Given the description of an element on the screen output the (x, y) to click on. 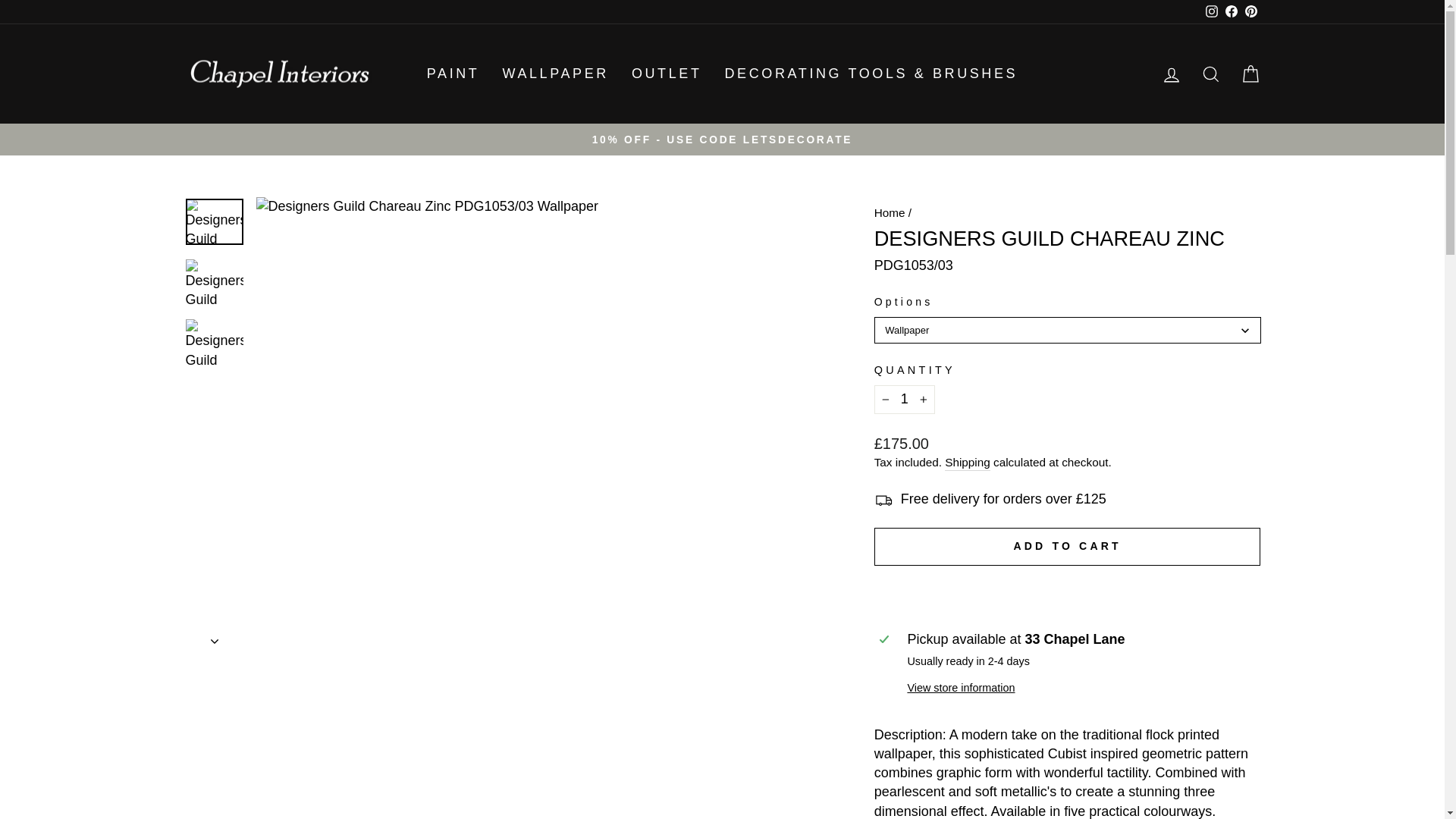
Back to the frontpage (890, 212)
1 (904, 398)
